Given the description of an element on the screen output the (x, y) to click on. 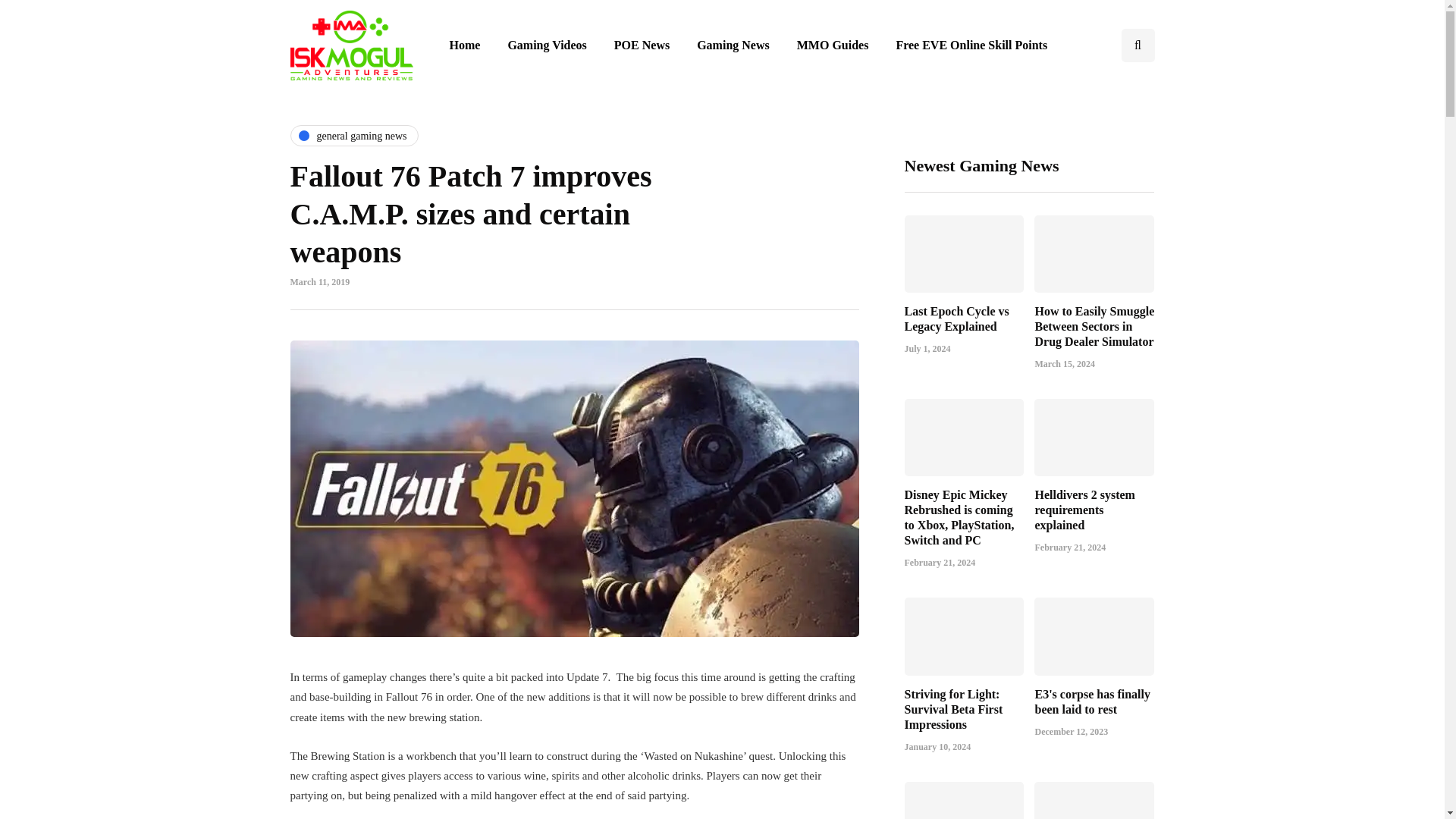
Gaming News (732, 45)
Free EVE Online Skill Points (971, 45)
Home (464, 45)
MMO Guides (832, 45)
POE News (640, 45)
general gaming news (354, 135)
Gaming Videos (546, 45)
